Given the description of an element on the screen output the (x, y) to click on. 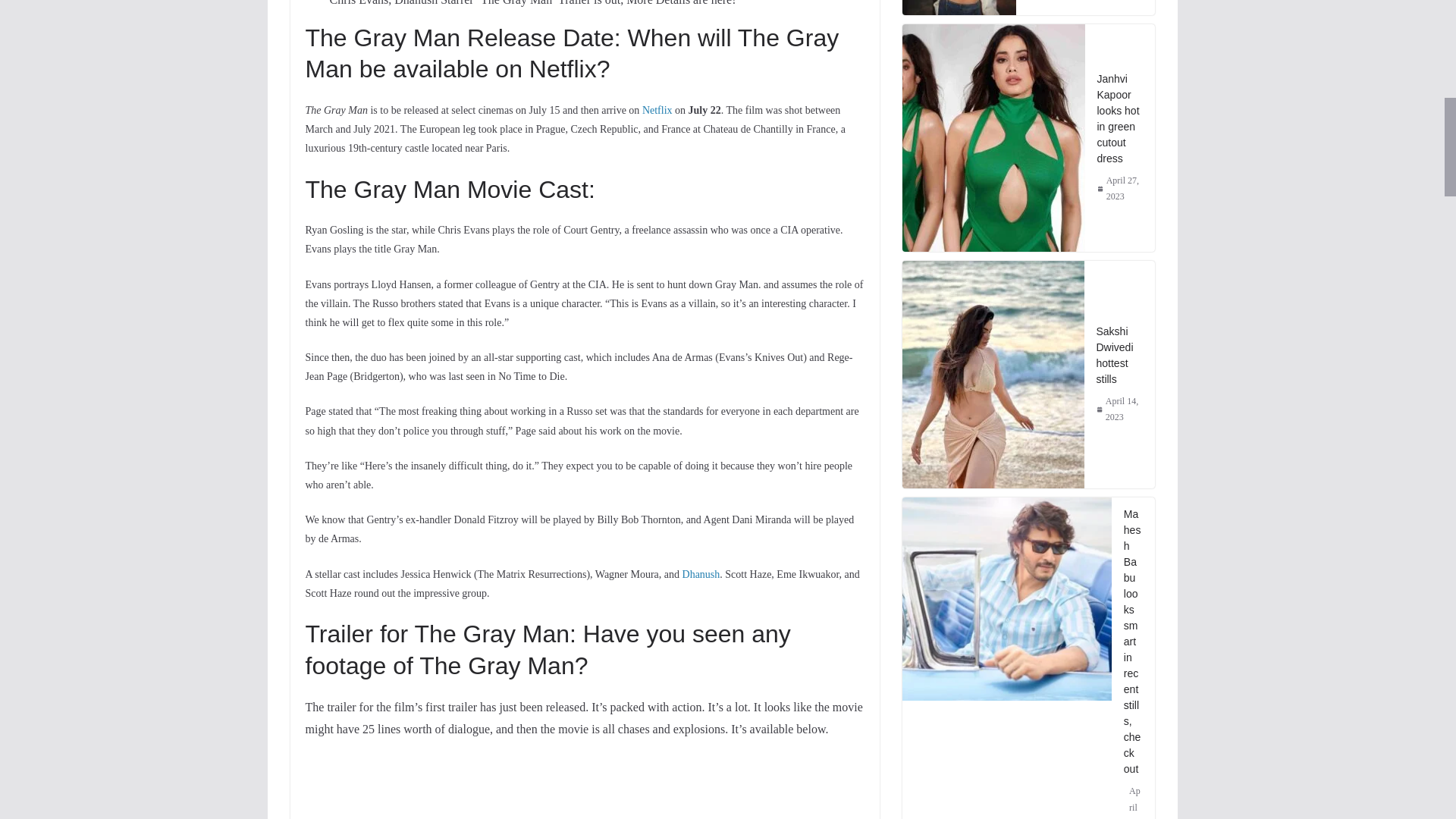
Dhanush (701, 573)
YouTube video player (516, 780)
Netflix (657, 110)
